Given the description of an element on the screen output the (x, y) to click on. 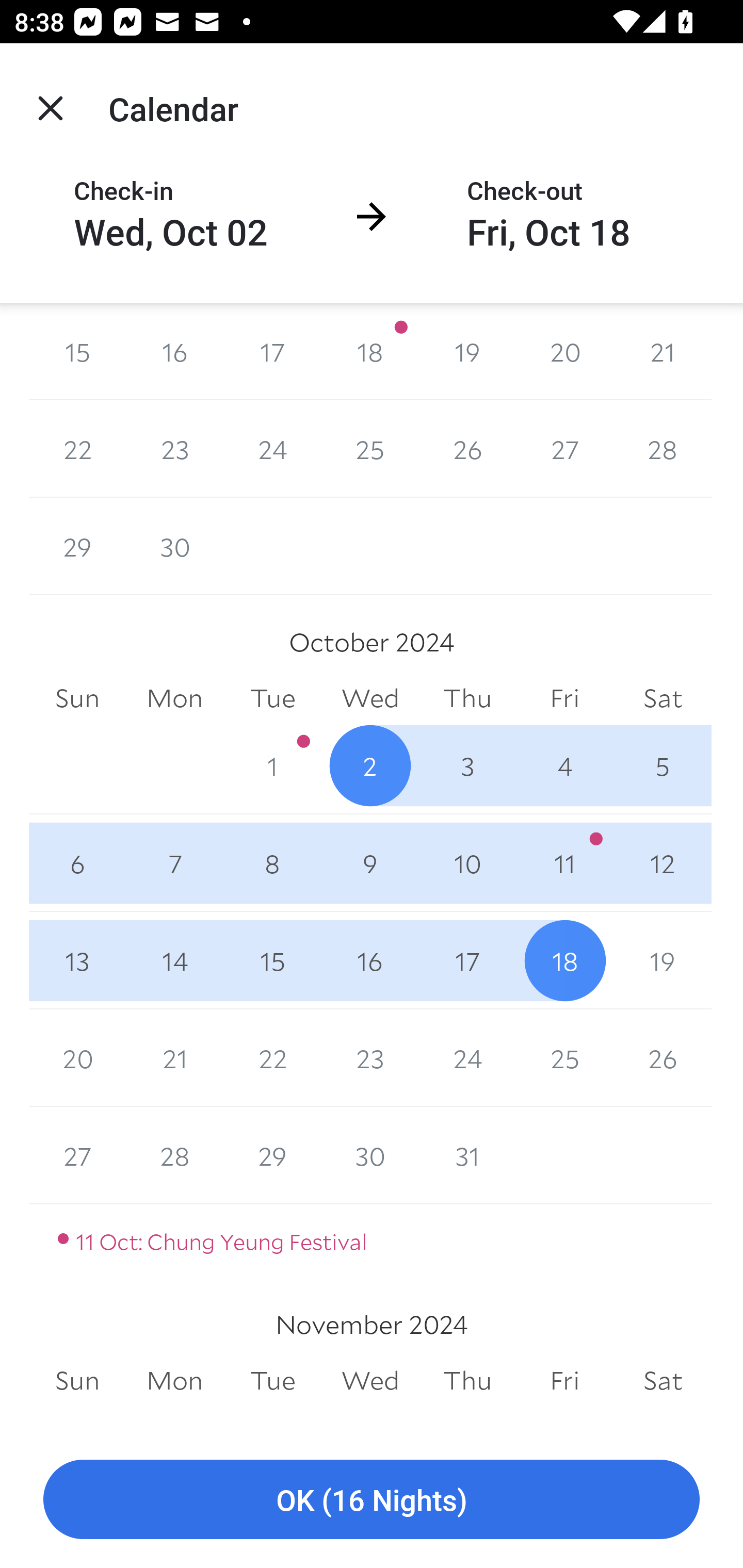
15 15 September 2024 (77, 350)
16 16 September 2024 (174, 350)
17 17 September 2024 (272, 350)
18 18 September 2024 (370, 350)
19 19 September 2024 (467, 350)
20 20 September 2024 (564, 350)
21 21 September 2024 (662, 350)
22 22 September 2024 (77, 448)
23 23 September 2024 (174, 448)
24 24 September 2024 (272, 448)
25 25 September 2024 (370, 448)
26 26 September 2024 (467, 448)
27 27 September 2024 (564, 448)
28 28 September 2024 (662, 448)
29 29 September 2024 (77, 546)
30 30 September 2024 (174, 546)
Sun (77, 698)
Mon (174, 698)
Tue (272, 698)
Wed (370, 698)
Thu (467, 698)
Fri (564, 698)
Sat (662, 698)
1 1 October 2024 (272, 764)
2 2 October 2024 (370, 764)
3 3 October 2024 (467, 764)
4 4 October 2024 (564, 764)
5 5 October 2024 (662, 764)
6 6 October 2024 (77, 862)
7 7 October 2024 (174, 862)
8 8 October 2024 (272, 862)
9 9 October 2024 (370, 862)
10 10 October 2024 (467, 862)
11 11 October 2024 (564, 862)
12 12 October 2024 (662, 862)
13 13 October 2024 (77, 960)
14 14 October 2024 (174, 960)
15 15 October 2024 (272, 960)
16 16 October 2024 (370, 960)
17 17 October 2024 (467, 960)
18 18 October 2024 (564, 960)
19 19 October 2024 (662, 960)
20 20 October 2024 (77, 1058)
21 21 October 2024 (174, 1058)
22 22 October 2024 (272, 1058)
23 23 October 2024 (370, 1058)
24 24 October 2024 (467, 1058)
25 25 October 2024 (564, 1058)
26 26 October 2024 (662, 1058)
27 27 October 2024 (77, 1155)
28 28 October 2024 (174, 1155)
29 29 October 2024 (272, 1155)
30 30 October 2024 (370, 1155)
31 31 October 2024 (467, 1155)
Sun (77, 1380)
Mon (174, 1380)
Tue (272, 1380)
Wed (370, 1380)
Thu (467, 1380)
Fri (564, 1380)
Sat (662, 1380)
OK (16 Nights) (371, 1499)
